Given the description of an element on the screen output the (x, y) to click on. 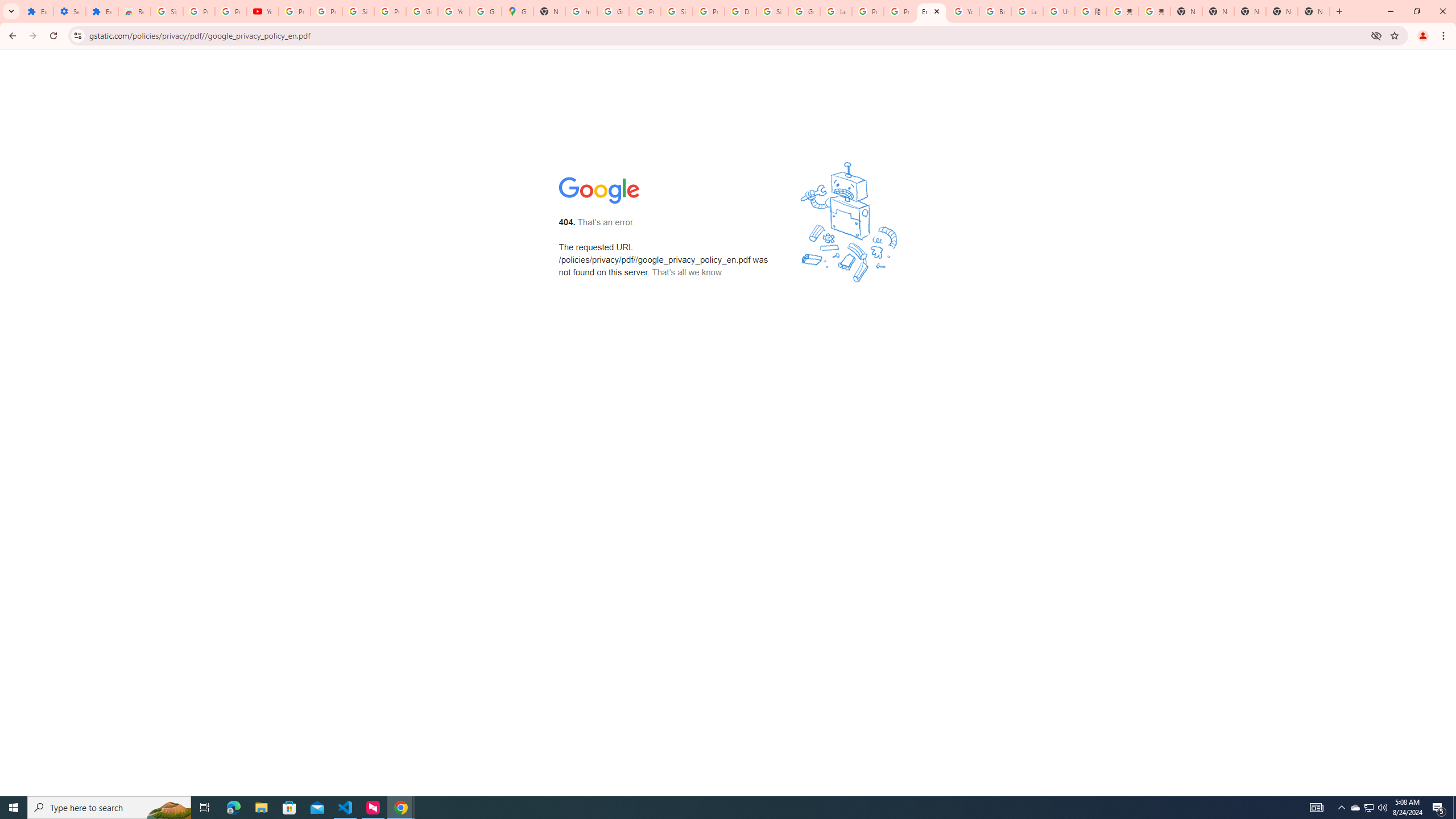
Privacy Help Center - Policies Help (868, 11)
Delete specific Google services or your Google Account (740, 11)
